Given the description of an element on the screen output the (x, y) to click on. 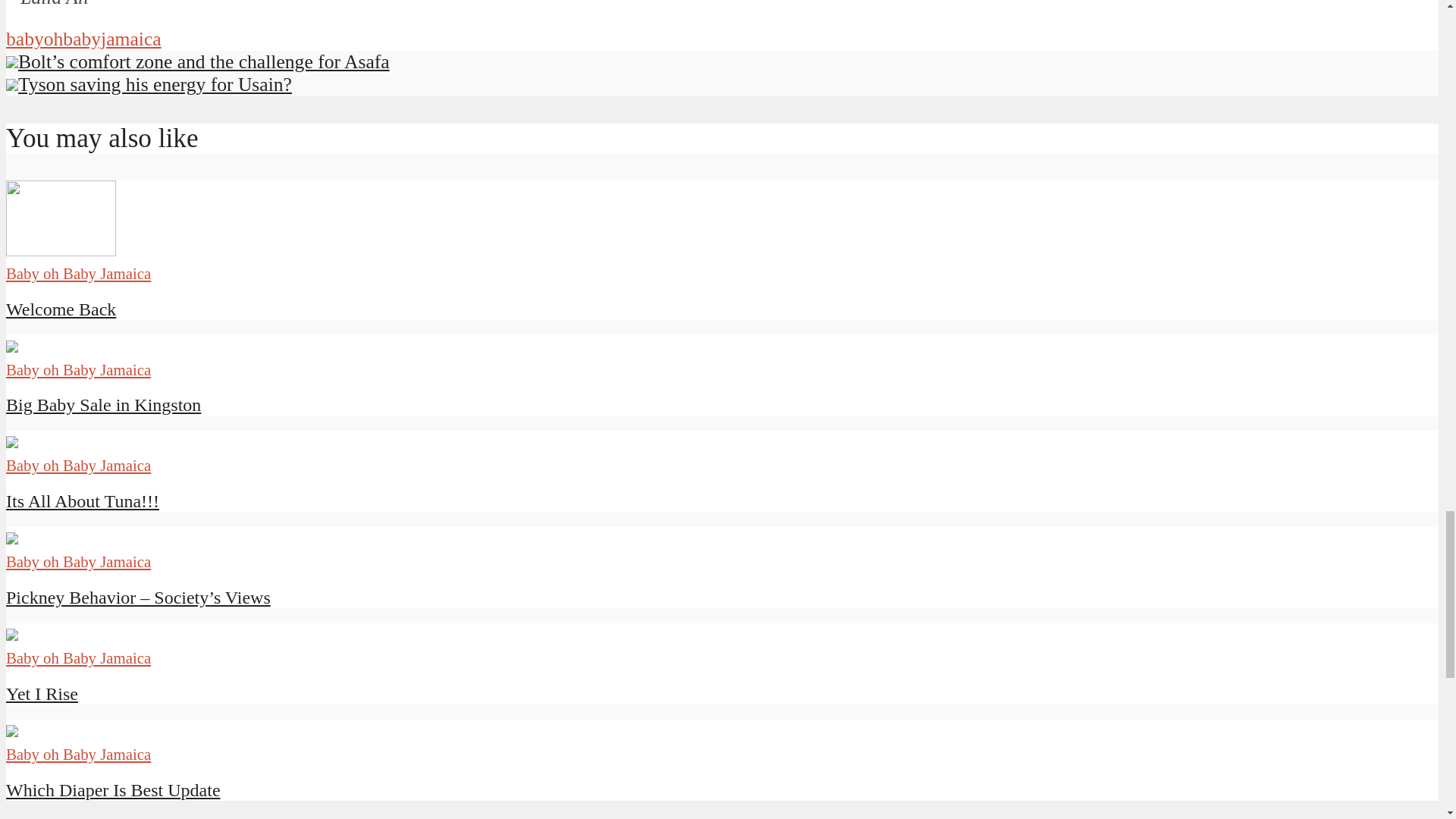
Baby oh Baby Jamaica (78, 753)
Baby oh Baby Jamaica (78, 561)
Big Baby Sale in Kingston (102, 404)
Which Diaper Is Best Update (113, 790)
Its All About Tuna!!! (81, 501)
Its All About Tuna!!! (81, 501)
Baby oh Baby Jamaica (78, 465)
Which Diaper Is Best Update (113, 790)
Welcome Back (60, 250)
Yet I Rise (41, 693)
Big Baby Sale in Kingston (102, 404)
Baby oh Baby Jamaica (78, 272)
Welcome Back (60, 309)
Baby oh Baby Jamaica (78, 369)
Tyson saving his energy for Usain? (148, 84)
